Given the description of an element on the screen output the (x, y) to click on. 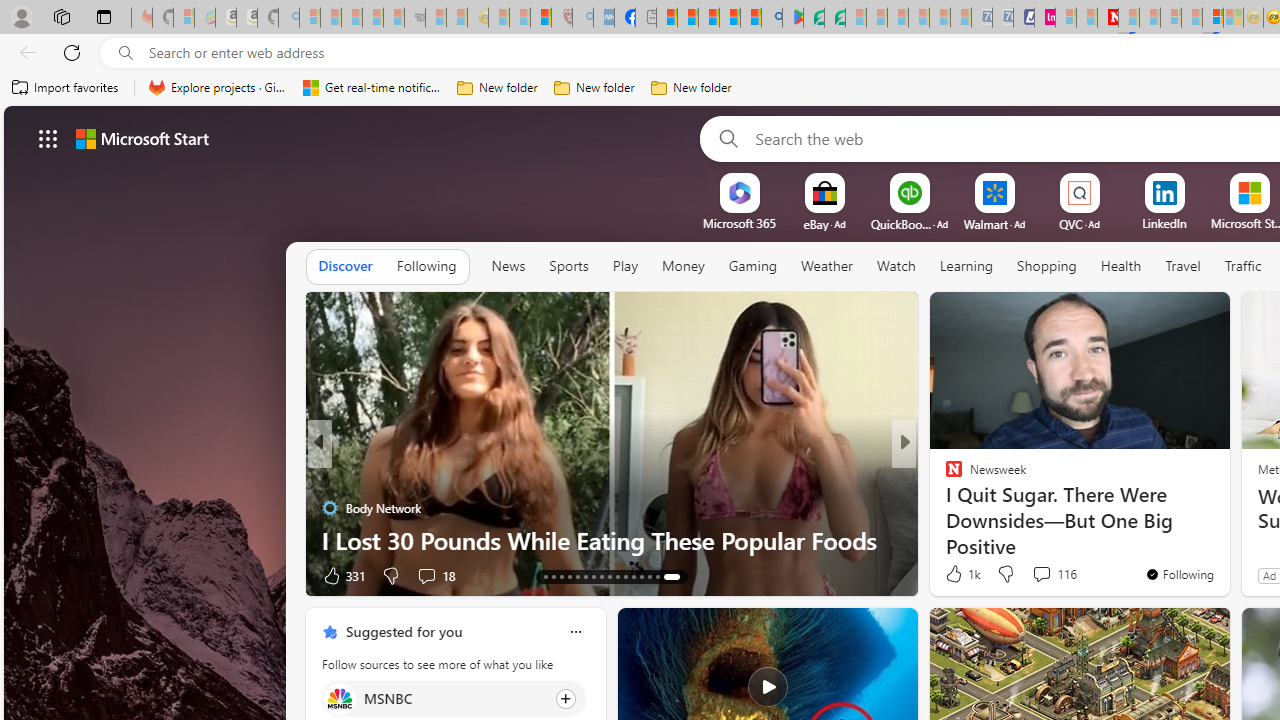
View comments 18 Comment (426, 575)
AutomationID: tab-24 (632, 576)
AutomationID: tab-13 (545, 576)
View comments 116 Comment (1041, 573)
Terms of Use Agreement (813, 17)
AutomationID: tab-19 (592, 576)
